Given the description of an element on the screen output the (x, y) to click on. 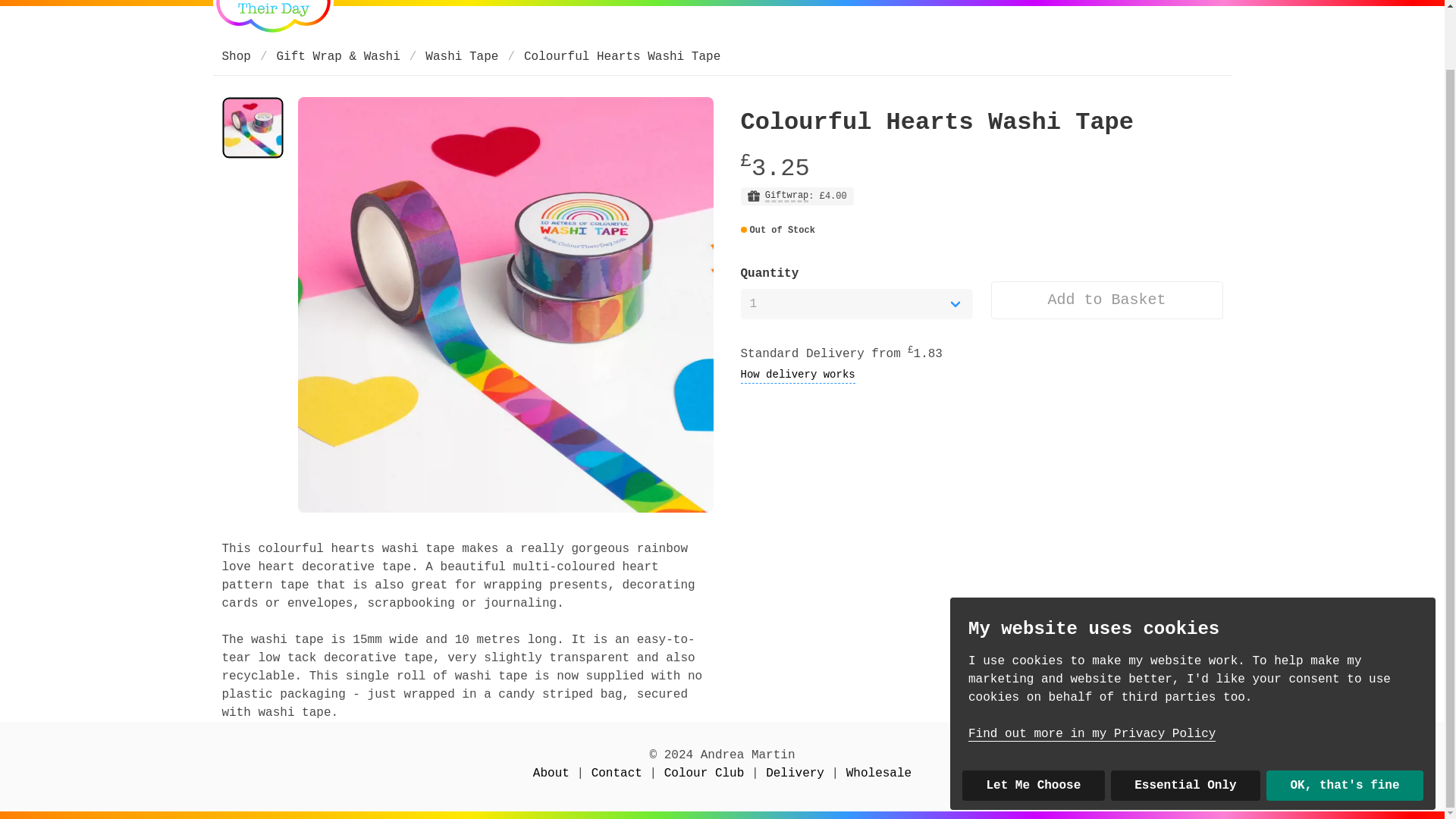
Shop (240, 56)
Giftwrap (787, 196)
Colourful Hearts Washi Tape (622, 56)
Washi Tape (461, 56)
Colour Their Day (272, 18)
Add to Basket (1106, 300)
